Given the description of an element on the screen output the (x, y) to click on. 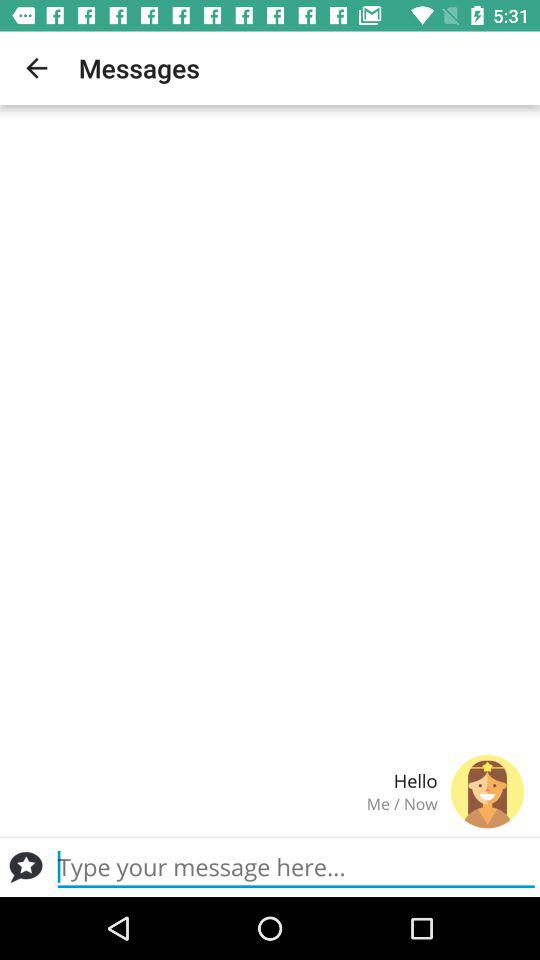
turn on item next to the messages icon (36, 68)
